Given the description of an element on the screen output the (x, y) to click on. 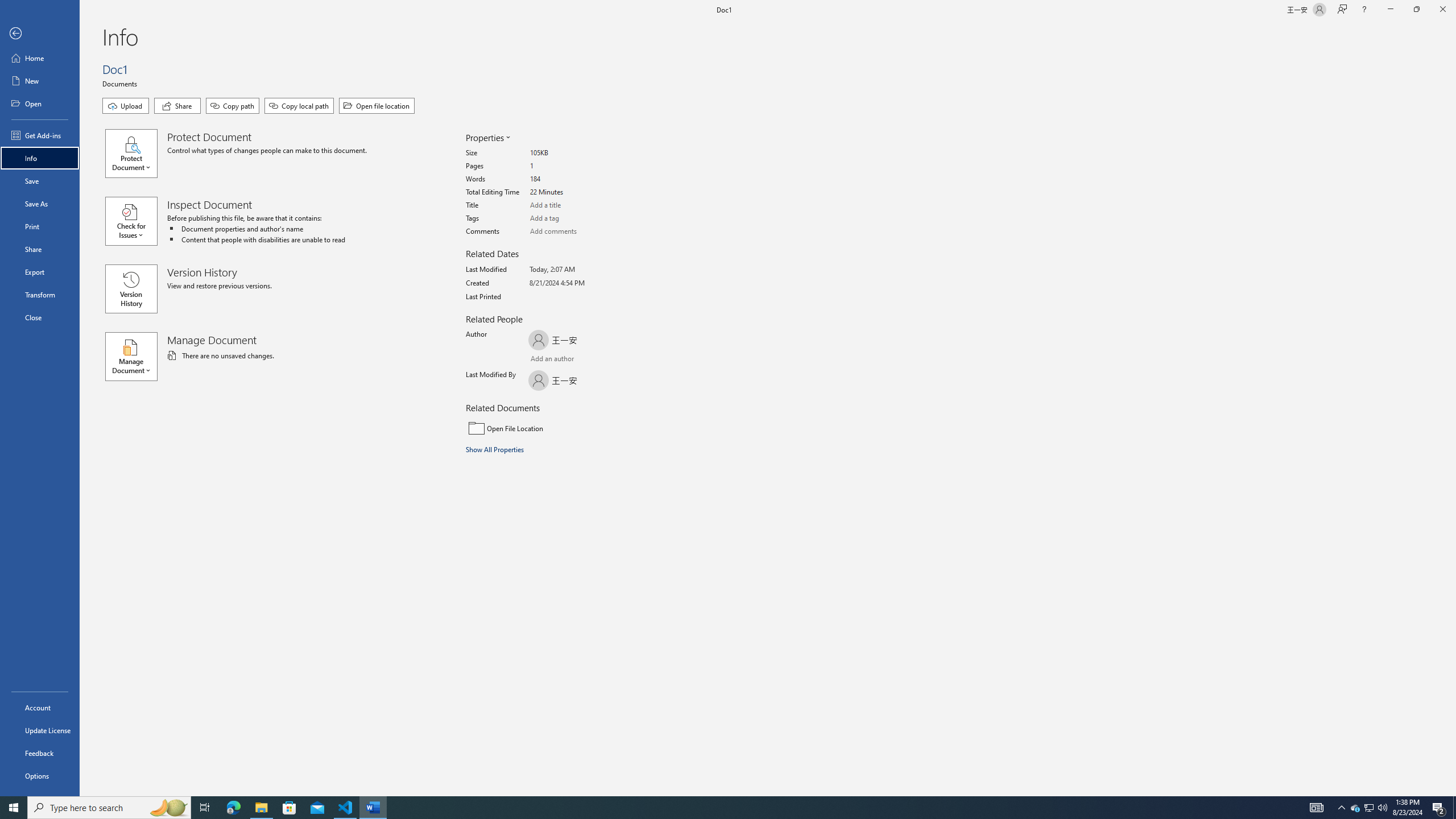
Open file location (376, 105)
Tags (572, 218)
Feedback (40, 753)
Upload (124, 105)
Copy local path (298, 105)
Transform (40, 294)
